Given the description of an element on the screen output the (x, y) to click on. 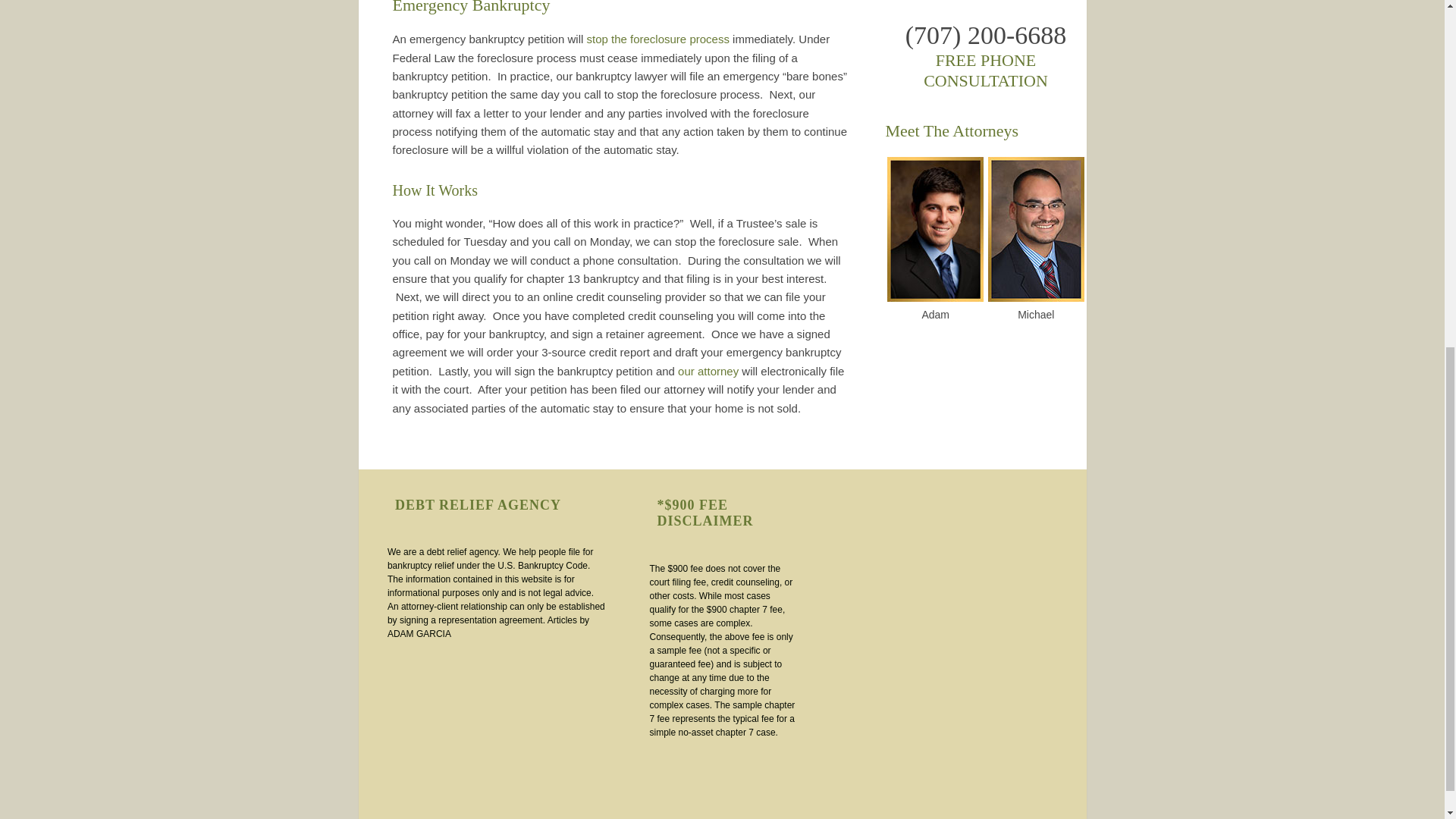
stop the foreclosure process (657, 38)
our attorney (708, 370)
